Given the description of an element on the screen output the (x, y) to click on. 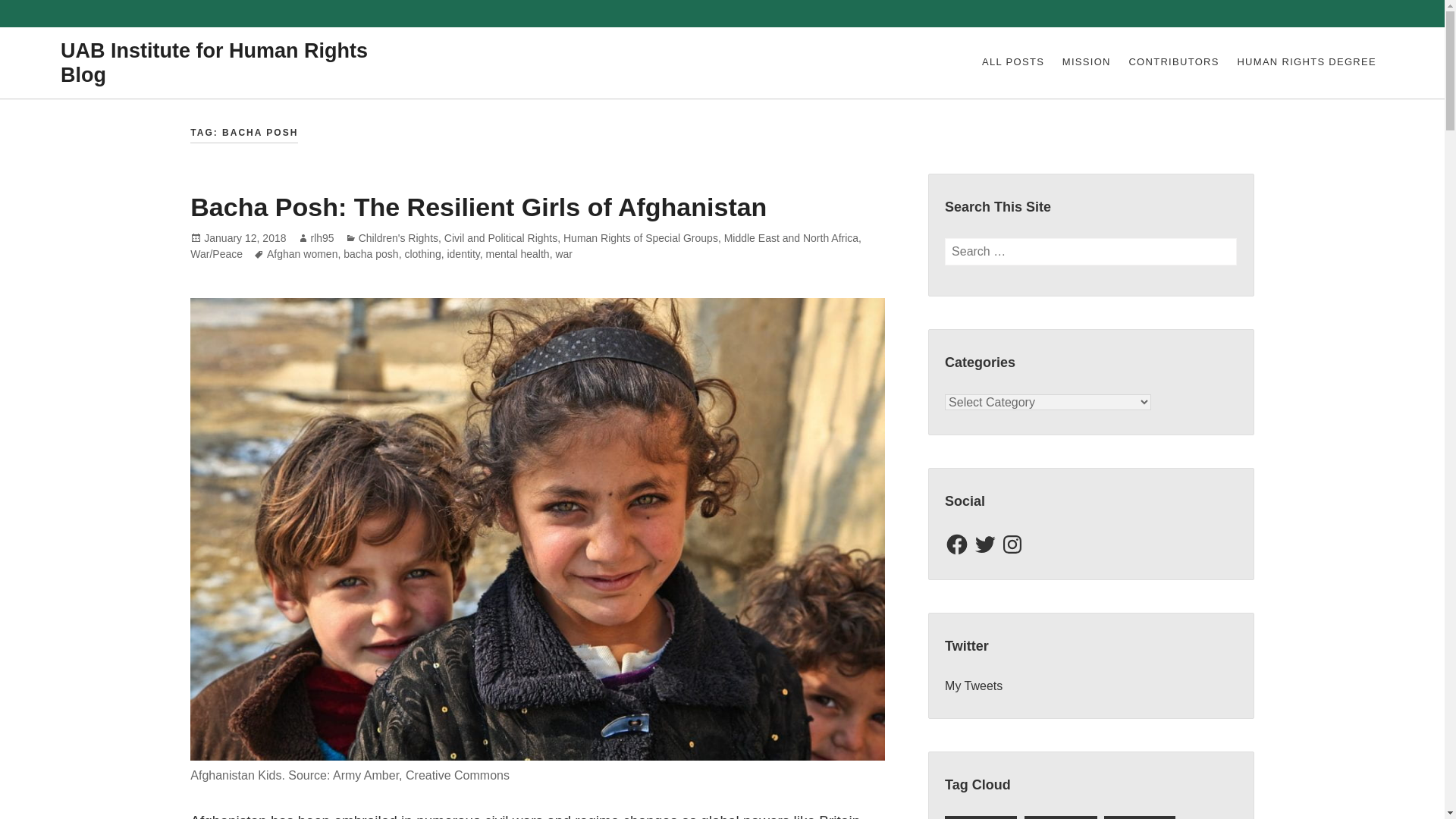
MISSION (1086, 63)
Instagram (1012, 544)
Civil and Political Rights (500, 237)
CONTRIBUTORS (1173, 63)
Afghan women (301, 254)
Human Rights of Special Groups (640, 237)
ALL POSTS (1012, 63)
mental health (518, 254)
January 12, 2018 (244, 237)
